Given the description of an element on the screen output the (x, y) to click on. 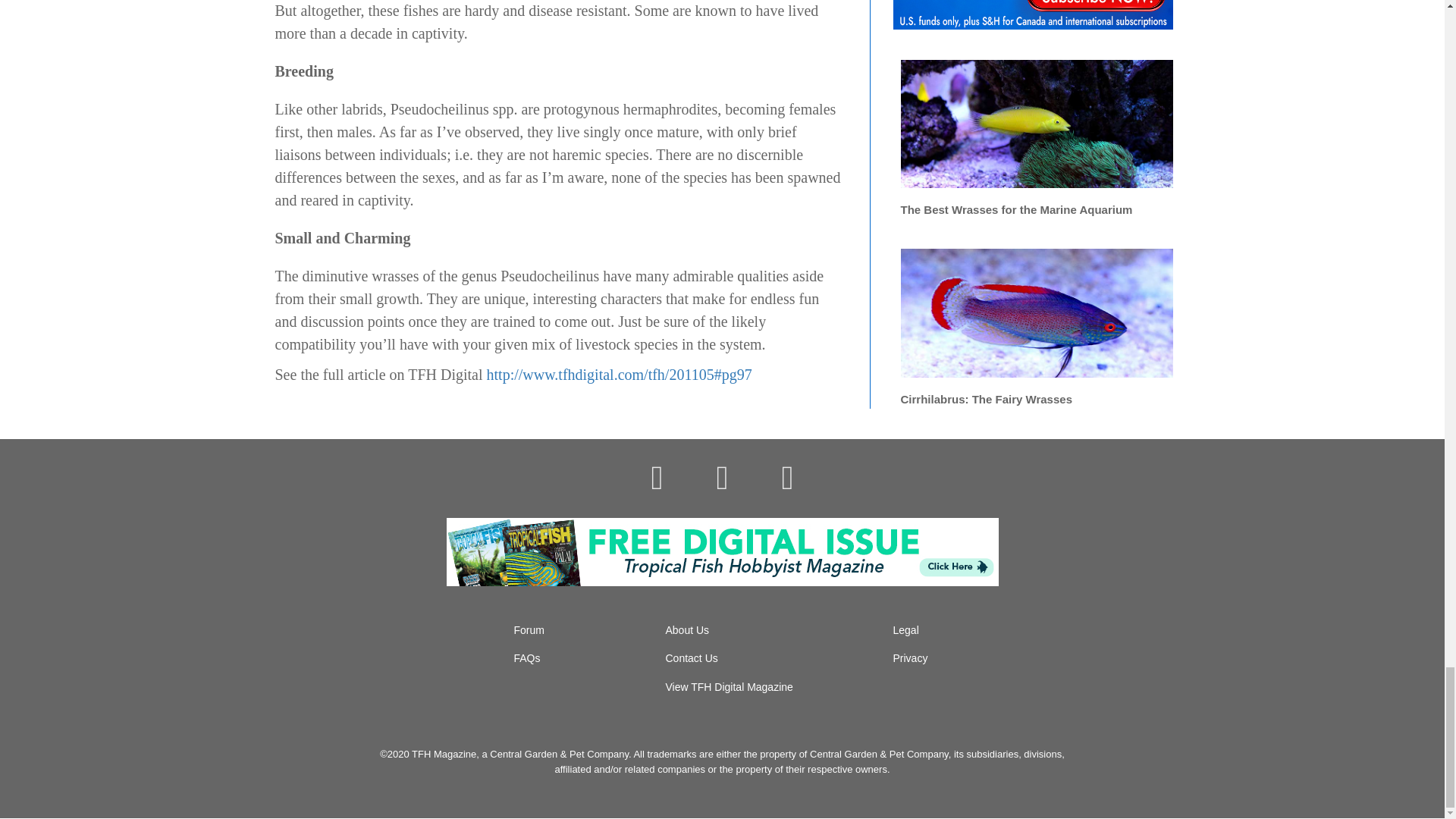
About Us (687, 630)
FAQs (526, 657)
Forum (528, 630)
View TFH Digital Magazine (729, 686)
Contact Us (691, 657)
Legal (905, 630)
Privacy (910, 657)
